Given the description of an element on the screen output the (x, y) to click on. 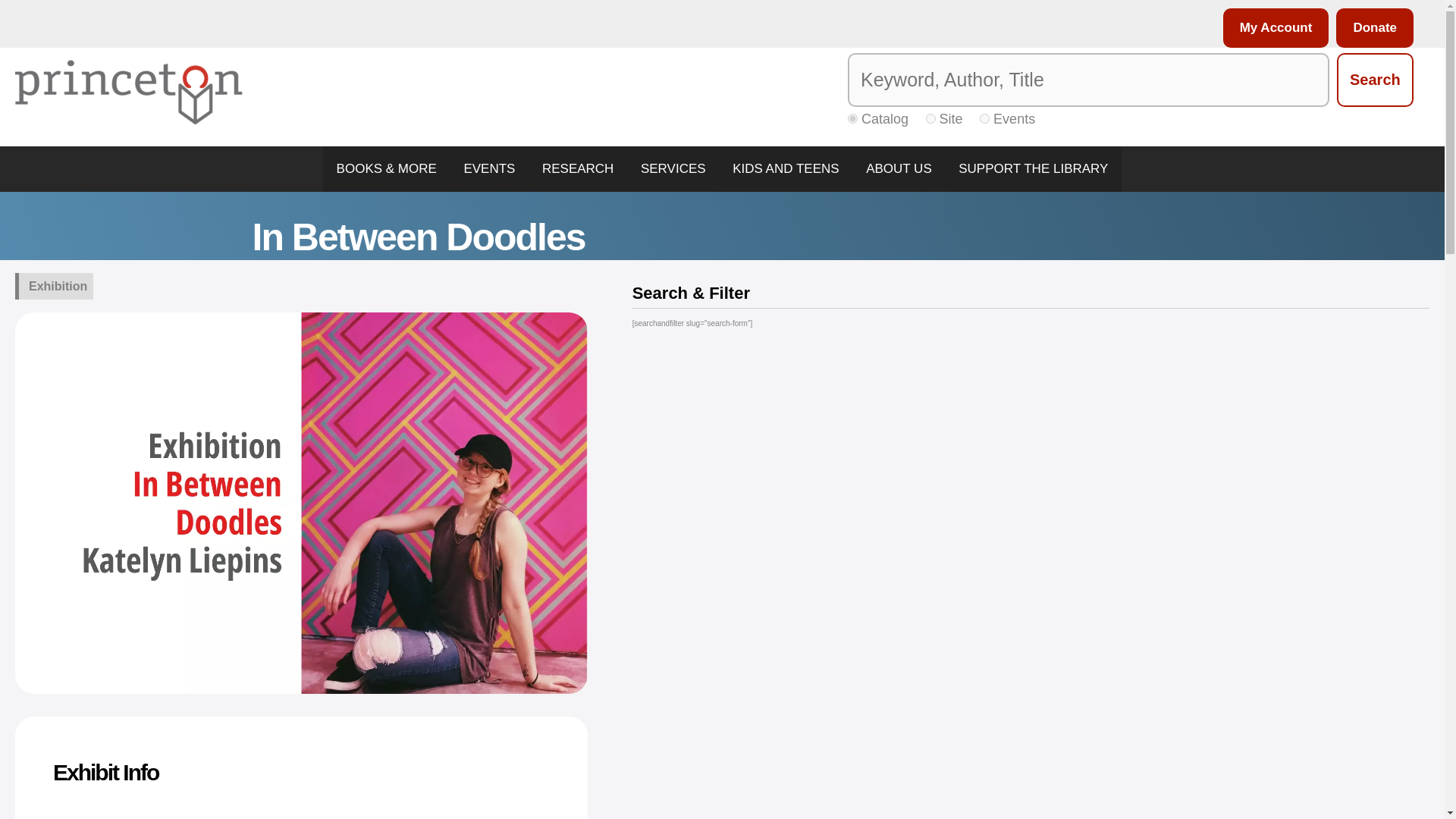
Search (1374, 80)
KIDS AND TEENS (785, 168)
Search (1374, 80)
EVENTS (489, 168)
site (931, 118)
SUPPORT THE LIBRARY (1032, 168)
ABOUT US (897, 168)
SERVICES (673, 168)
Donate (1371, 27)
catalog (852, 118)
Exhibition (58, 286)
My Account (1272, 27)
Search (1374, 80)
RESEARCH (577, 168)
events (984, 118)
